Given the description of an element on the screen output the (x, y) to click on. 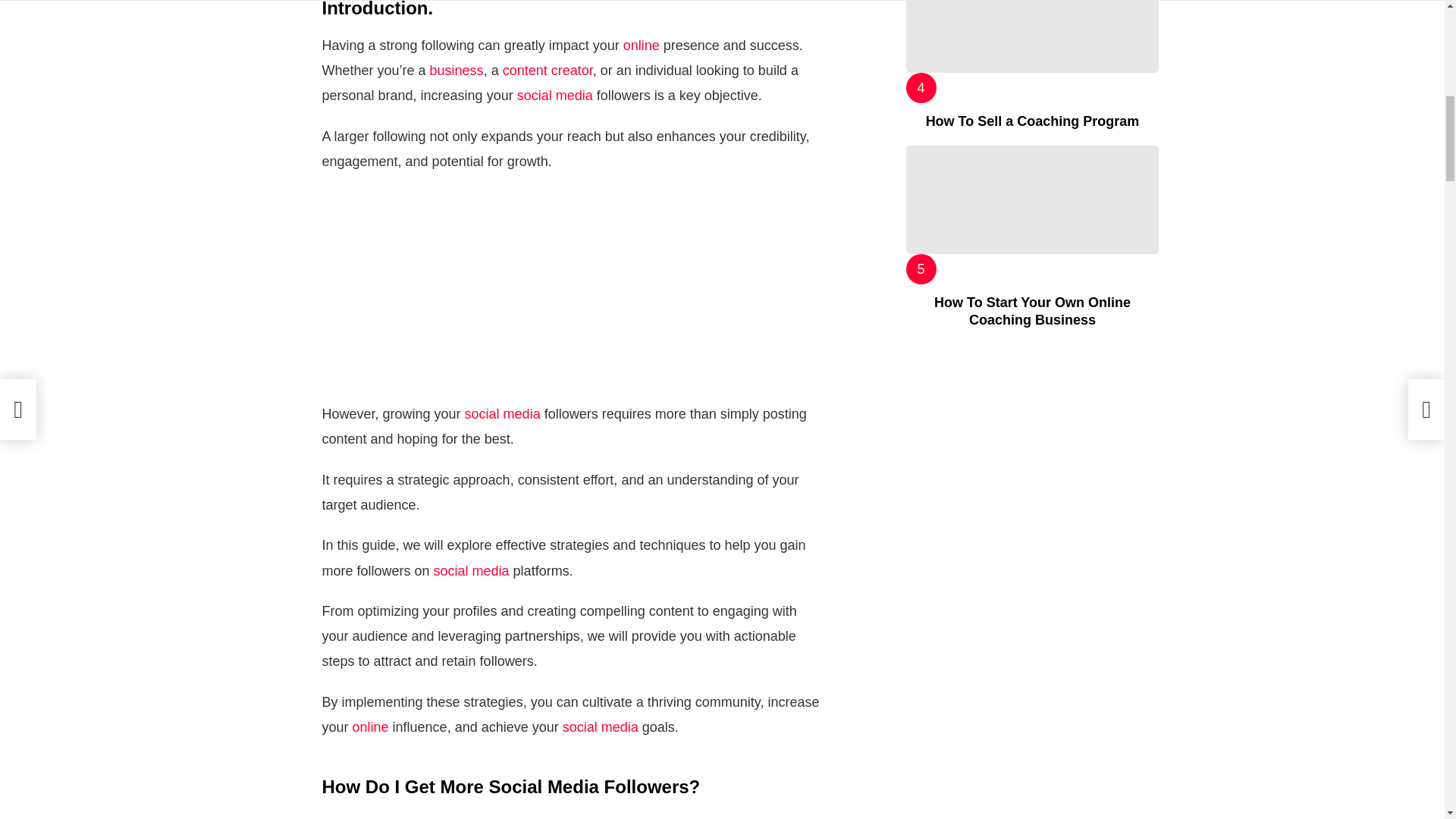
Advertisement (572, 295)
